Given the description of an element on the screen output the (x, y) to click on. 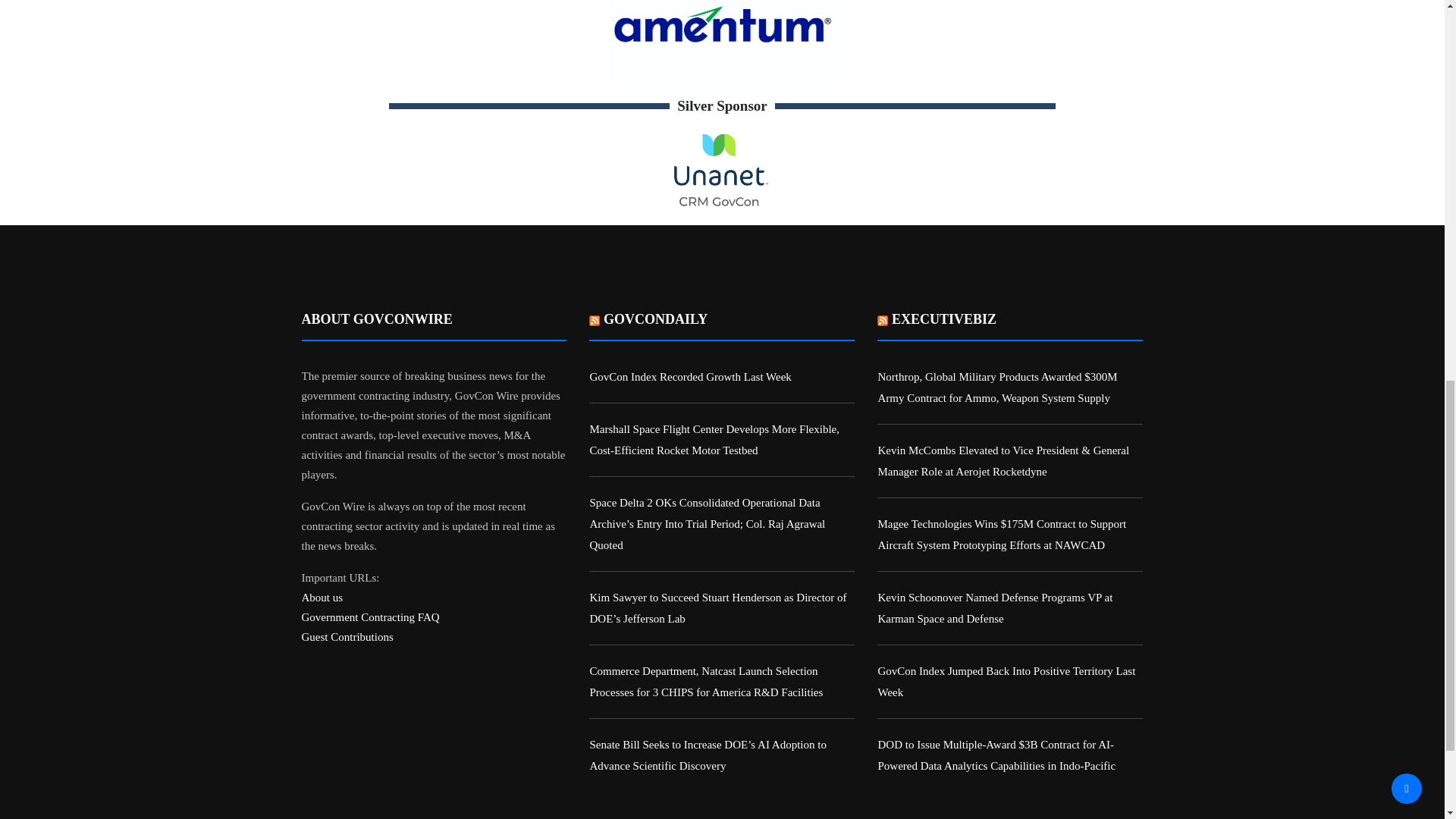
EXECUTIVEBIZ (943, 319)
GovCon Index Recorded Growth Last Week (689, 377)
GOVCONDAILY (655, 319)
Government Contracting FAQ (370, 616)
Guest Contributions (347, 636)
About us (322, 597)
